Given the description of an element on the screen output the (x, y) to click on. 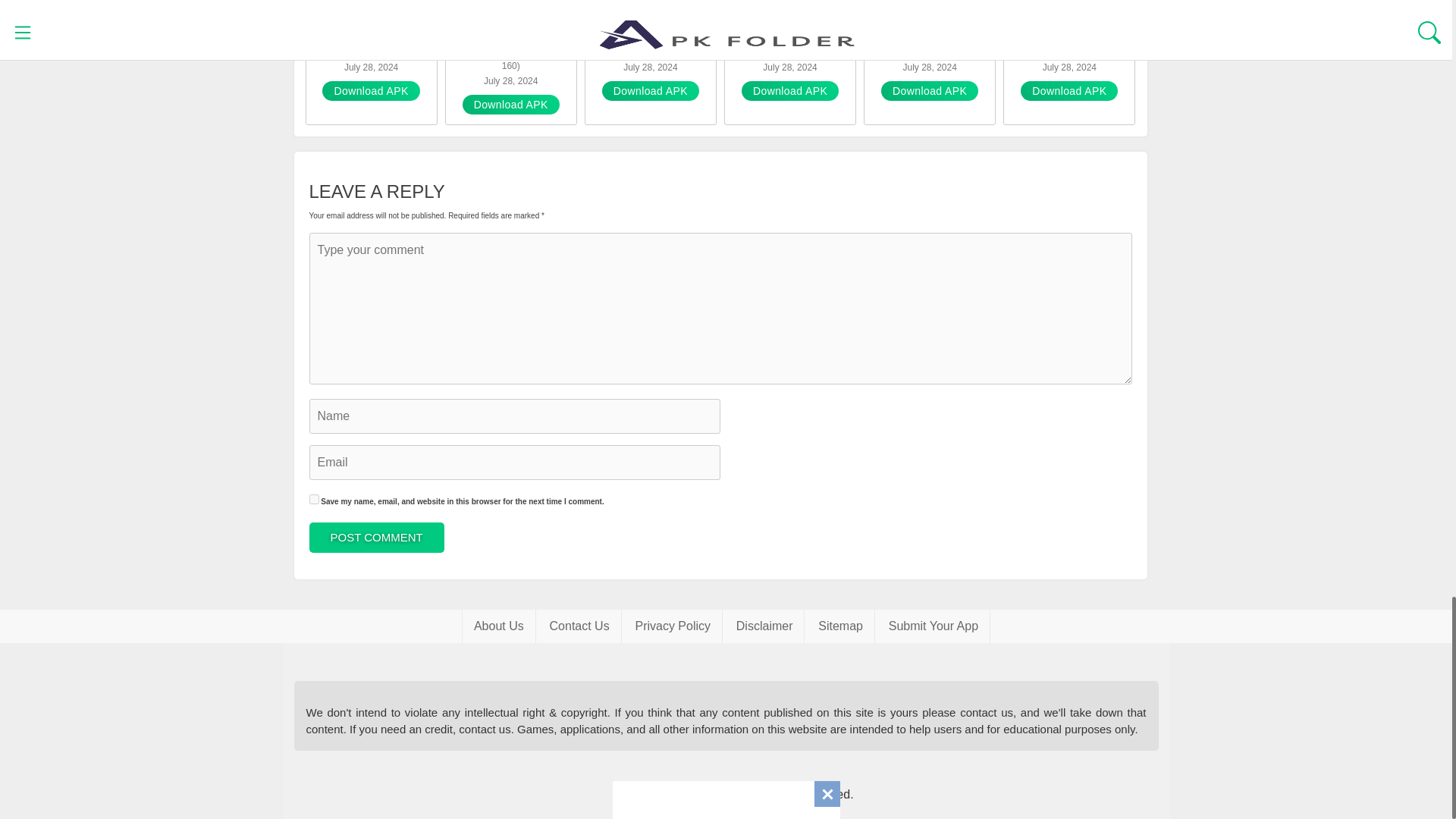
Download APK (650, 90)
Download APK (789, 90)
yes (313, 499)
RDM87 Injector (1068, 32)
Download APK (1069, 90)
New IMoba 2023 (510, 32)
Post Comment (376, 537)
BMT Reborn (649, 32)
Download APK (511, 104)
Download APK (929, 90)
Box MLBB Pro 2021 (929, 32)
Download APK (370, 90)
Reborn Imoba (789, 32)
I Moba Bangmamet (371, 32)
